Given the description of an element on the screen output the (x, y) to click on. 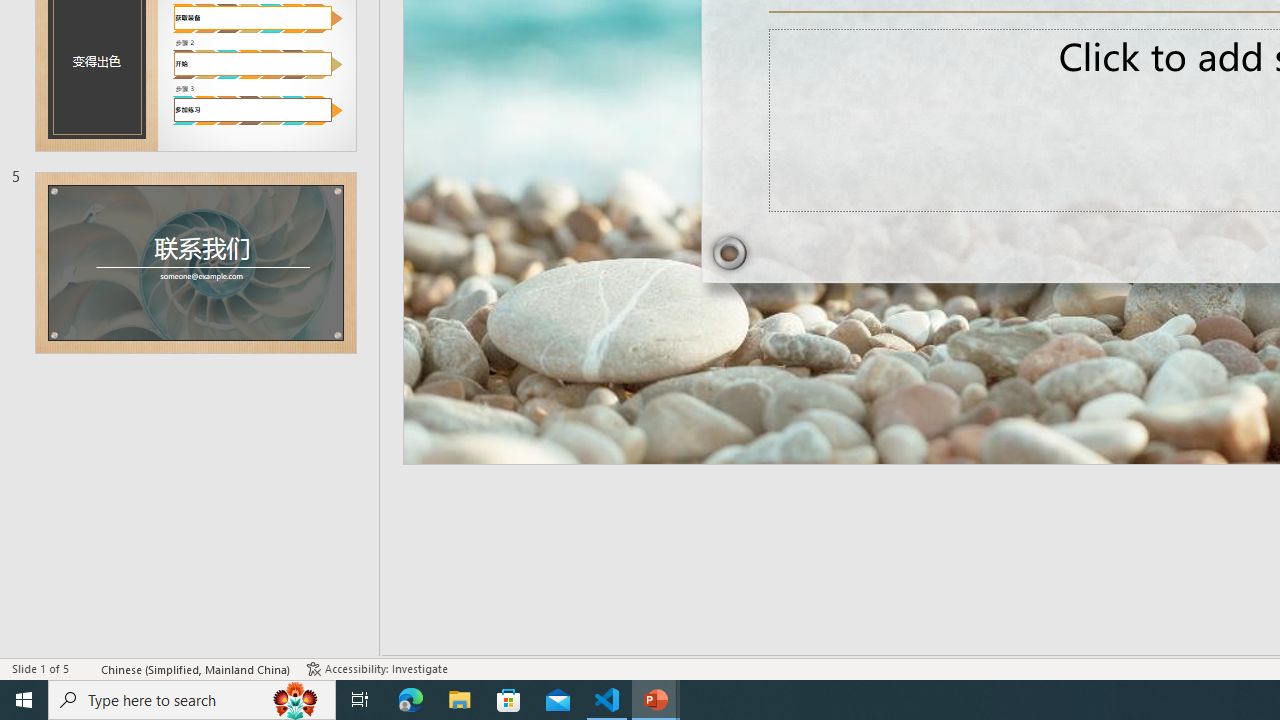
Spell Check  (86, 668)
